Given the description of an element on the screen output the (x, y) to click on. 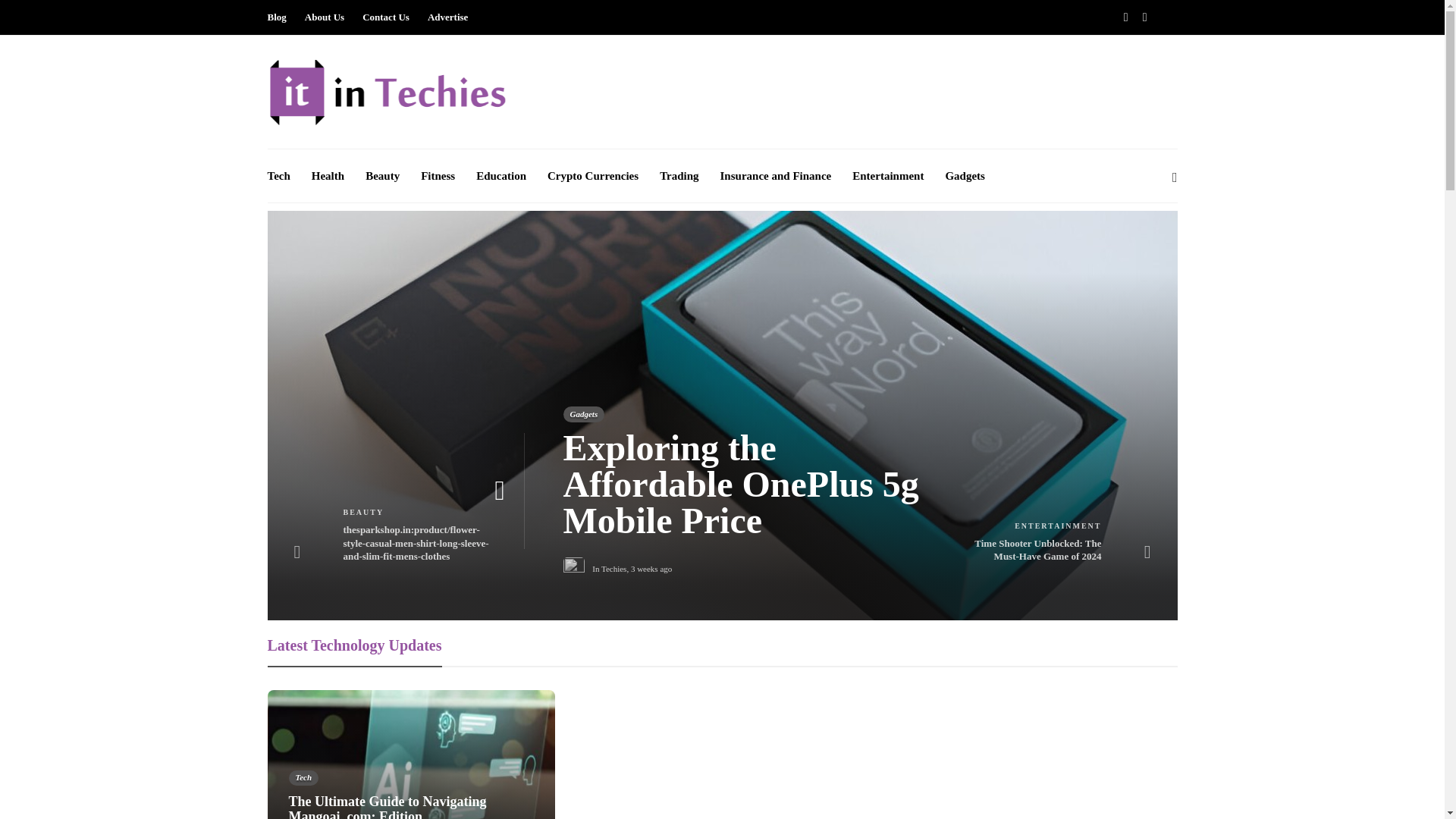
Education (500, 175)
About Us (323, 17)
Advertise (447, 17)
Contact Us (385, 17)
